Given the description of an element on the screen output the (x, y) to click on. 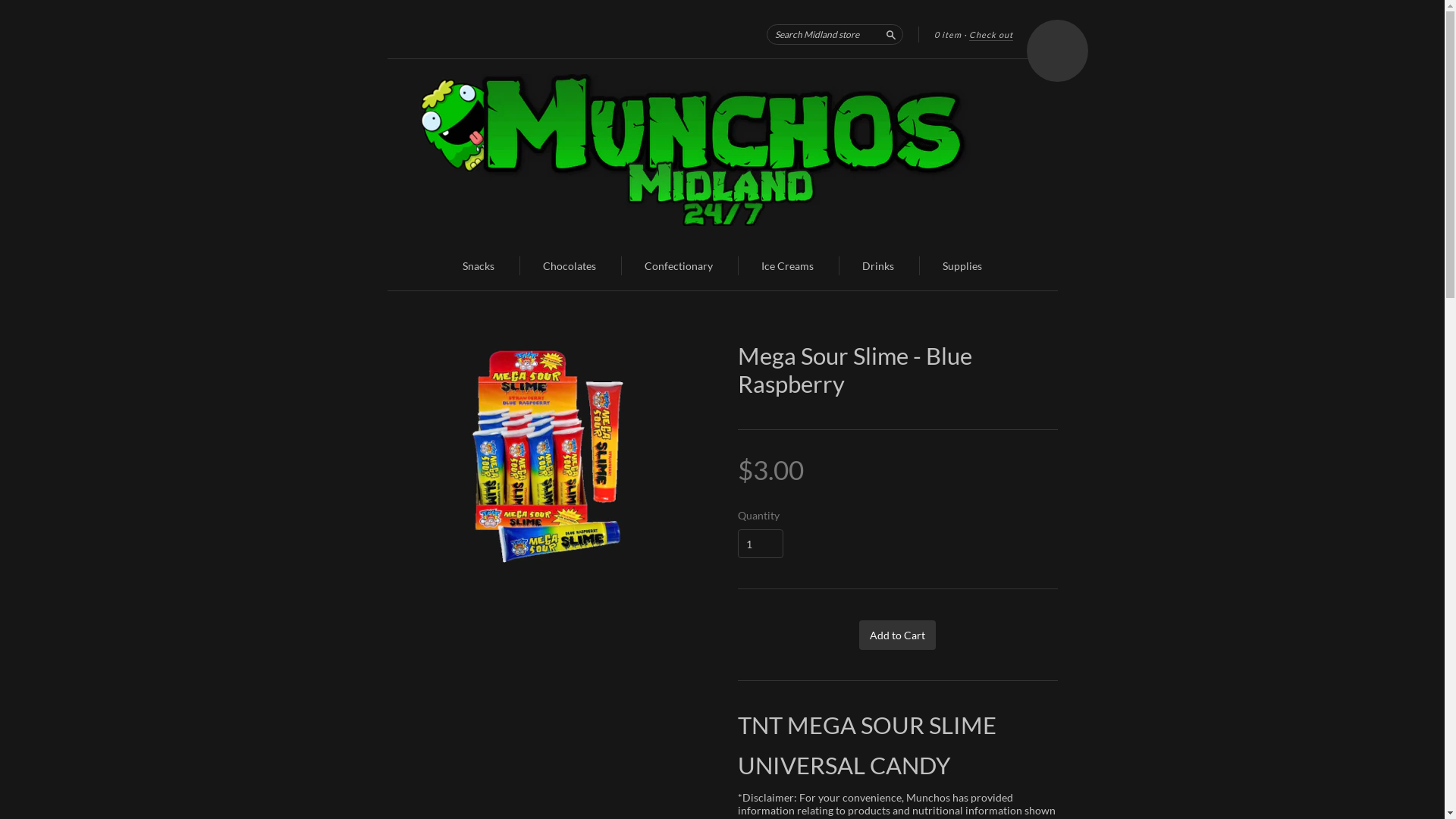
Drinks Element type: text (878, 265)
0 item Element type: text (947, 34)
Ice Creams Element type: text (787, 265)
Add to Cart Element type: text (897, 634)
Chocolates Element type: text (569, 265)
Confectionary Element type: text (678, 265)
Supplies Element type: text (962, 265)
Snacks Element type: text (478, 265)
Check out Element type: text (991, 34)
Search Element type: text (889, 33)
